Given the description of an element on the screen output the (x, y) to click on. 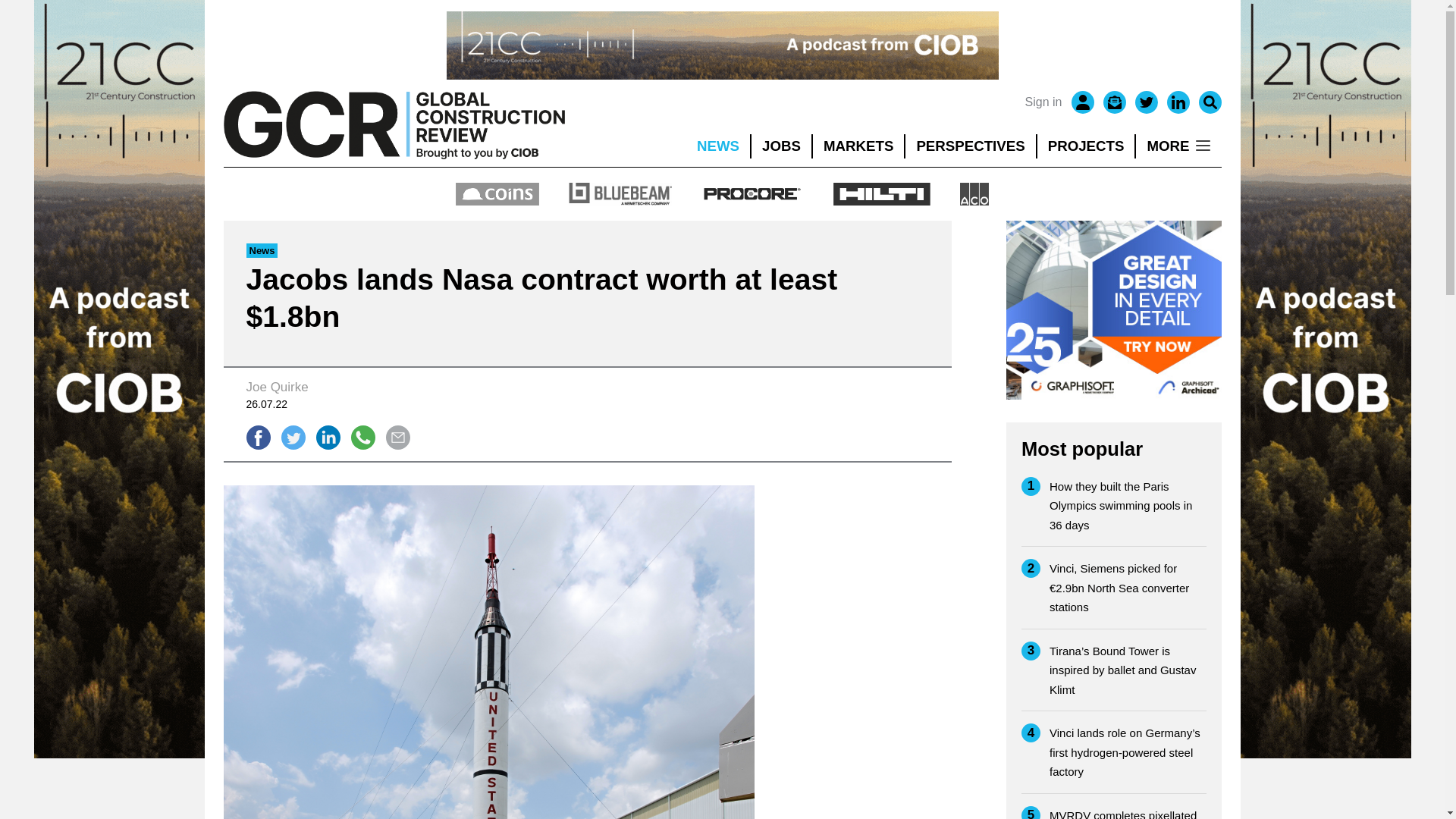
Share on LinkedIn (327, 437)
PERSPECTIVES (970, 146)
MARKETS (858, 146)
MORE (1178, 146)
Sign in (1043, 102)
Send email (397, 437)
Tweet (292, 437)
PROJECTS (1085, 146)
JOBS (780, 146)
Share on WhatsApp (362, 437)
NEWS (717, 146)
Share on Facebook (257, 437)
